Given the description of an element on the screen output the (x, y) to click on. 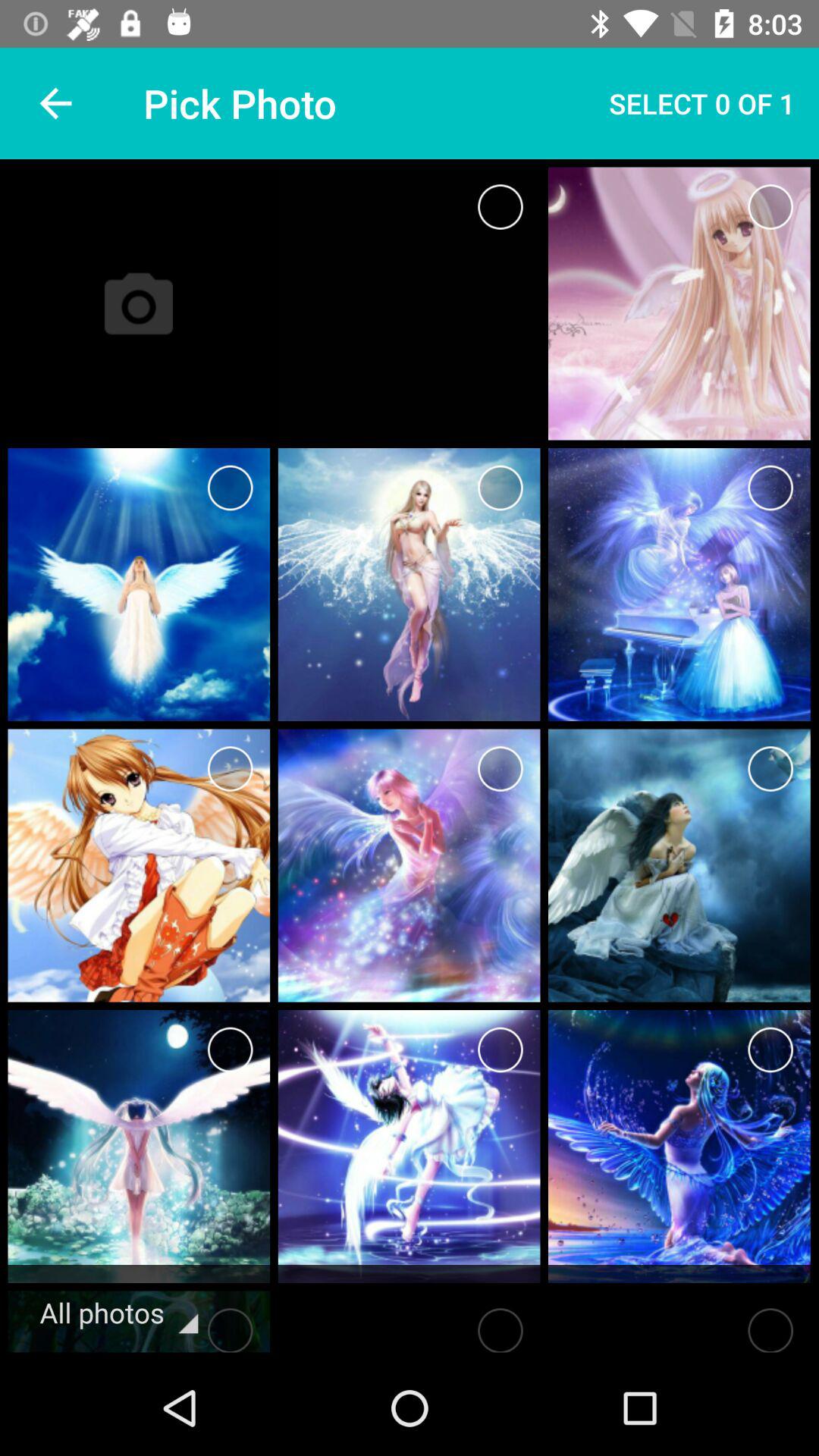
serch (770, 1325)
